Given the description of an element on the screen output the (x, y) to click on. 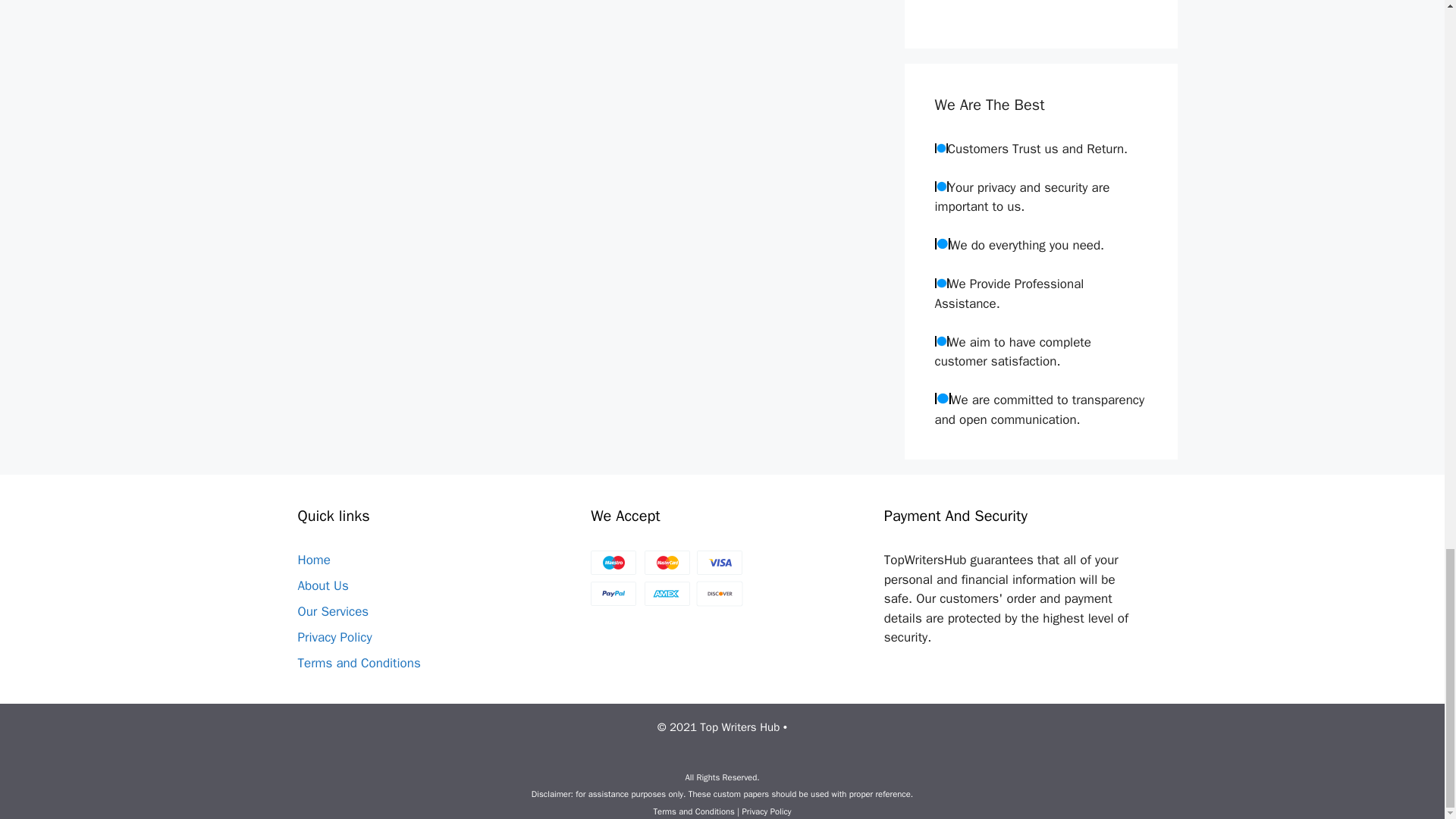
Our Services (332, 611)
Terms and Conditions (692, 810)
About Us (322, 585)
Privacy Policy (334, 637)
Home (313, 560)
Terms and Conditions (358, 662)
